Given the description of an element on the screen output the (x, y) to click on. 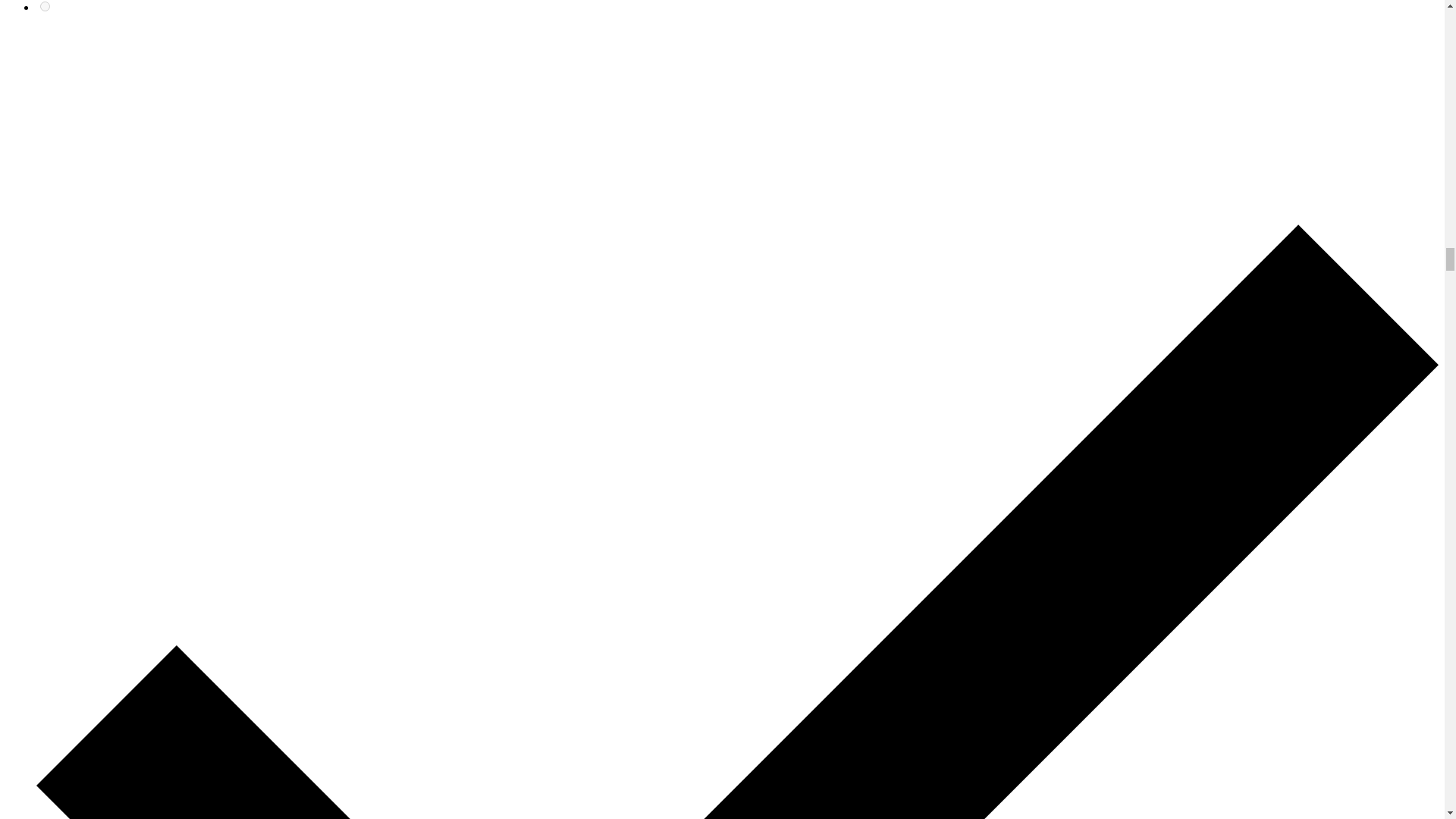
Wong, Hin Wah (44, 6)
